Given the description of an element on the screen output the (x, y) to click on. 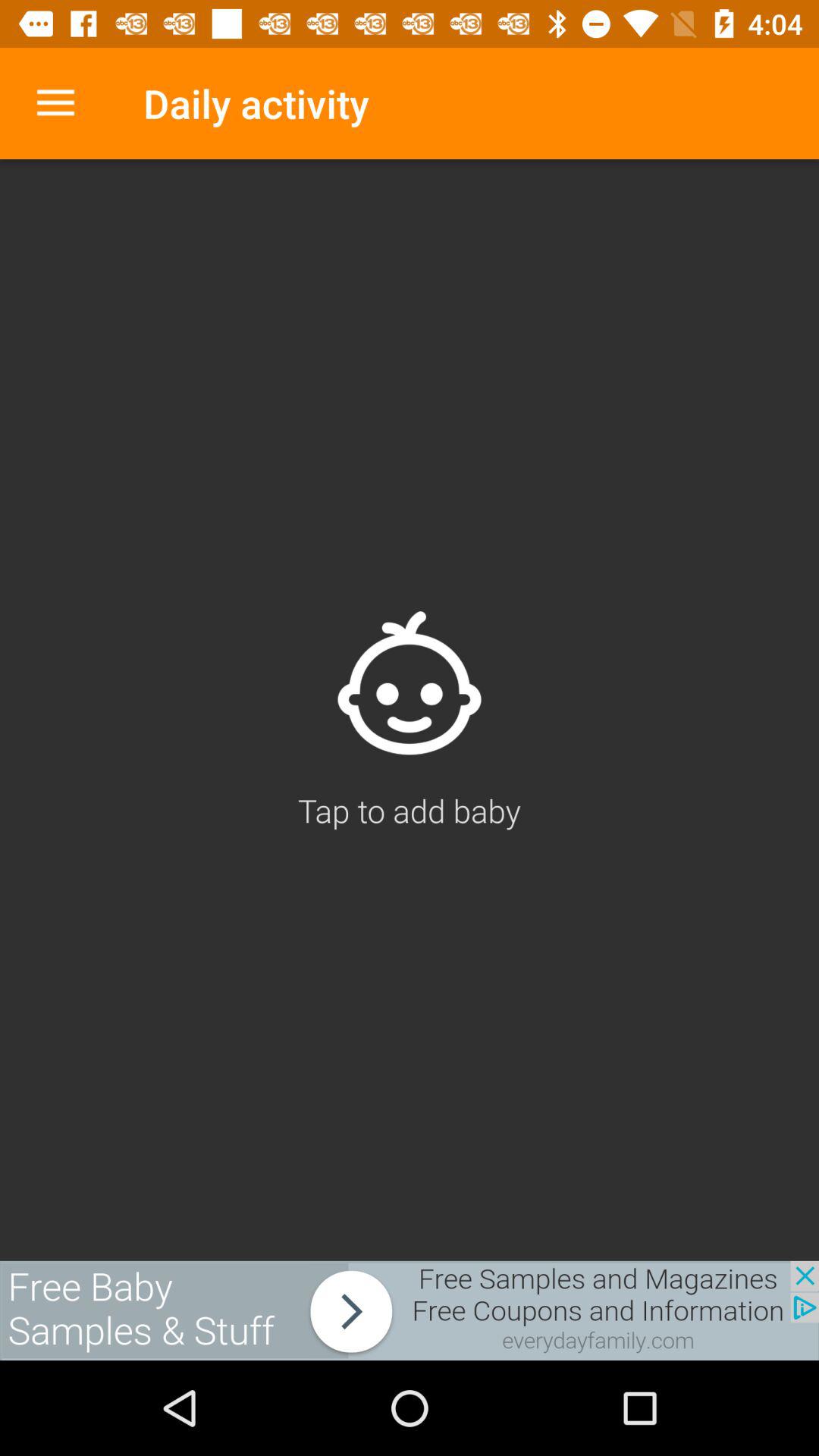
visit advertisement website (409, 1310)
